Given the description of an element on the screen output the (x, y) to click on. 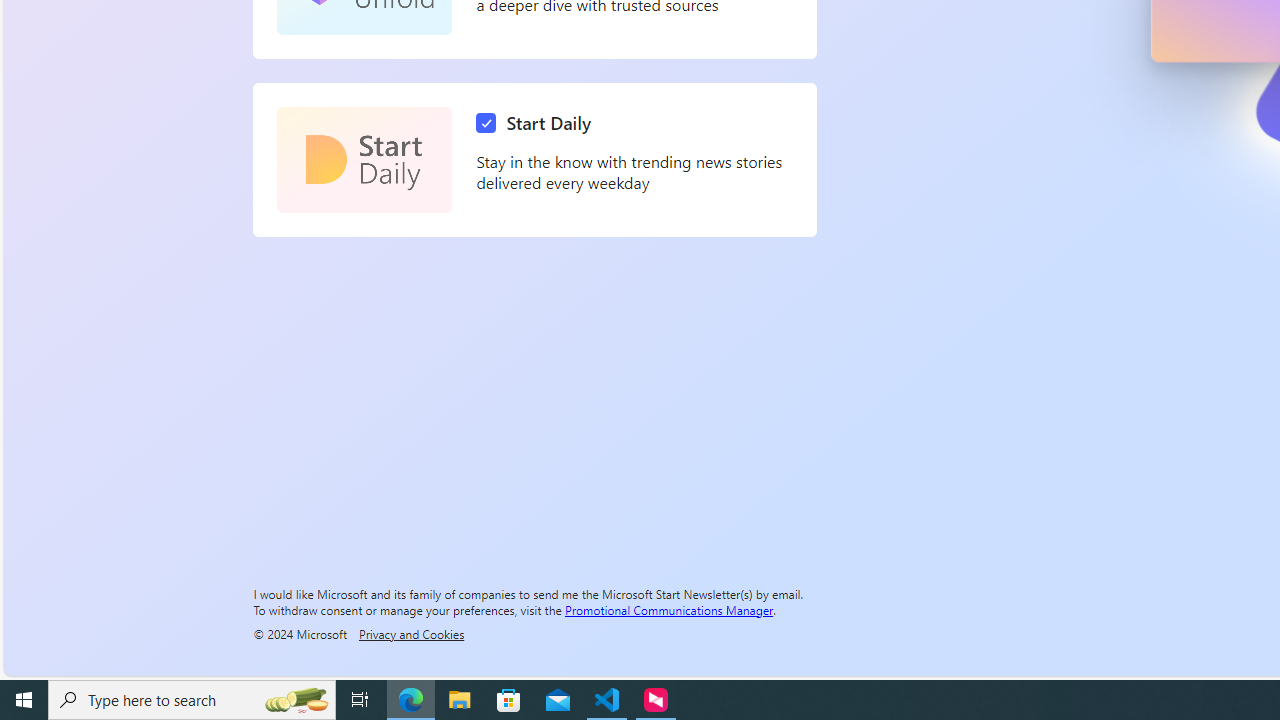
Privacy and Cookies (411, 633)
Promotional Communications Manager (669, 609)
Start Daily (538, 123)
Start Daily (364, 160)
